Given the description of an element on the screen output the (x, y) to click on. 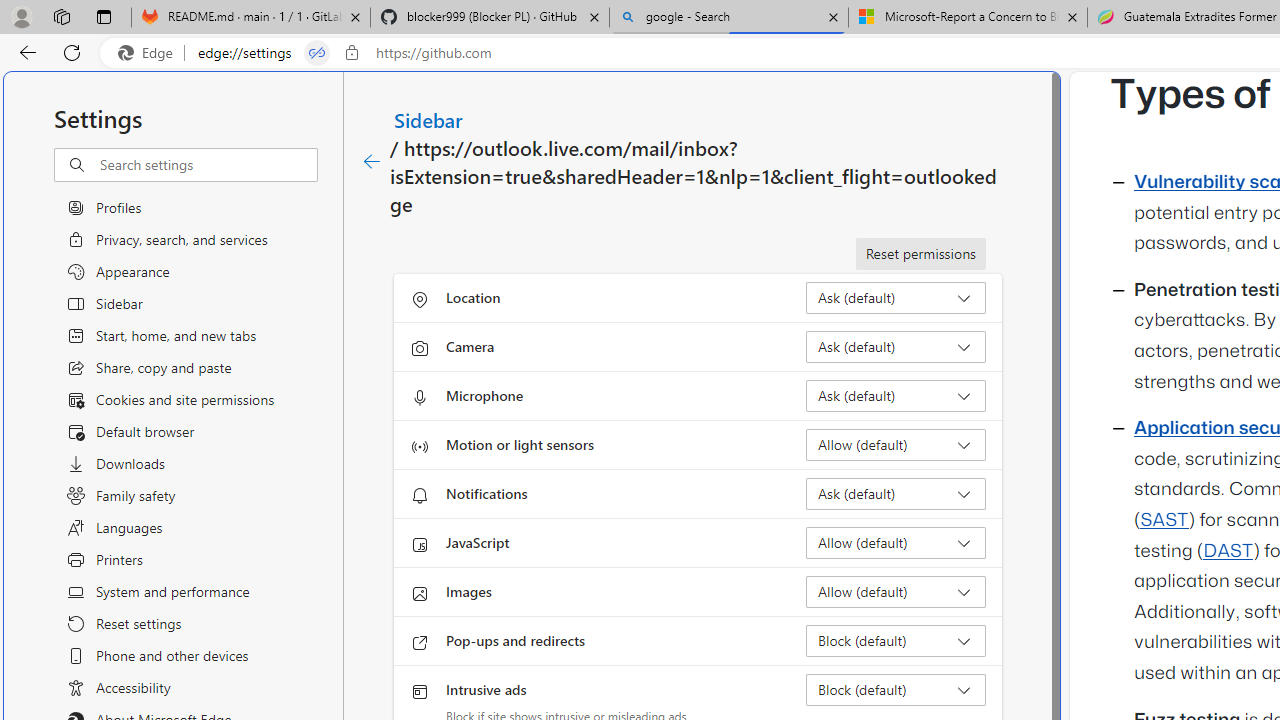
Class: c01182 (371, 161)
Reset permissions (920, 254)
Notifications Ask (default) (895, 493)
DAST (1228, 551)
Pop-ups and redirects Block (default) (895, 640)
Location Ask (default) (895, 297)
Intrusive ads Block (default) (895, 689)
Sidebar (429, 119)
